Given the description of an element on the screen output the (x, y) to click on. 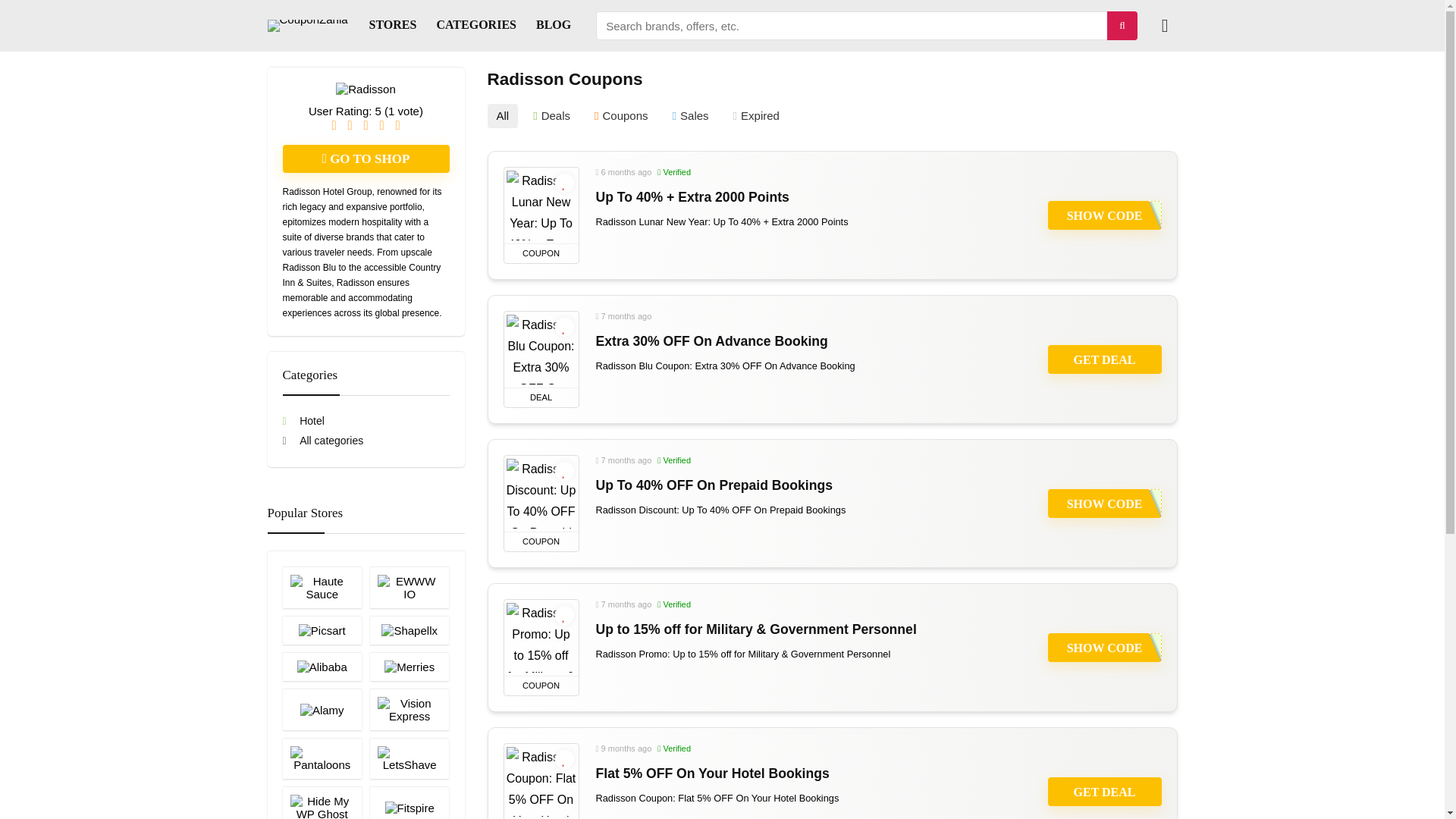
View all post filed under Haute Sauce (321, 587)
GO TO SHOP (365, 158)
GET DEAL (1104, 358)
View all post filed under Picsart (321, 629)
View all post filed under Alibaba (321, 665)
BLOG (552, 25)
View all post filed under Alamy (321, 709)
Hotel (302, 420)
View all post filed under EWWW IO (408, 587)
GET DEAL (1104, 791)
